Given the description of an element on the screen output the (x, y) to click on. 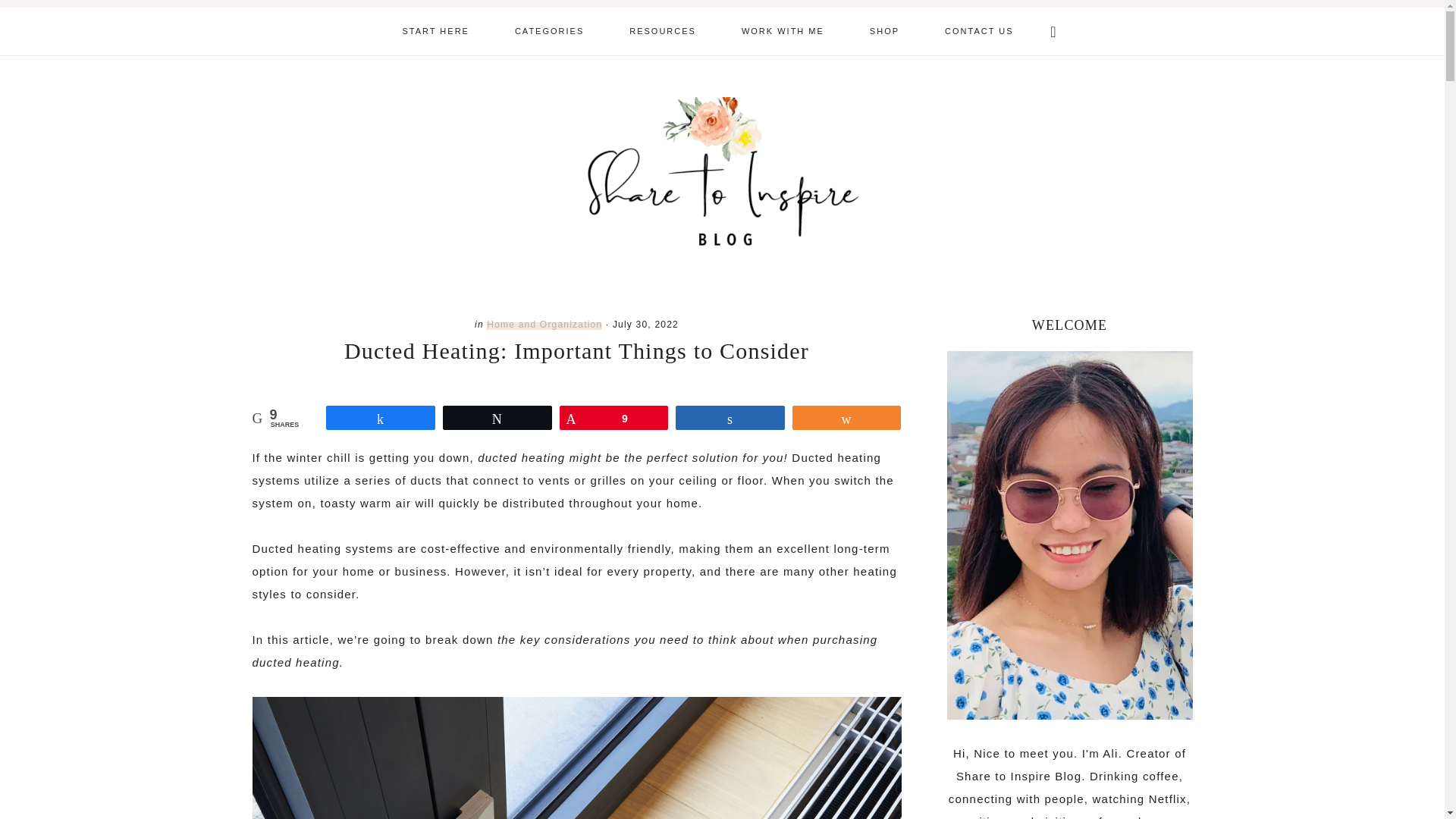
CATEGORIES (549, 31)
START HERE (435, 31)
CONTACT US (978, 31)
SHOP (884, 31)
WORK WITH ME (783, 31)
RESOURCES (663, 31)
